Given the description of an element on the screen output the (x, y) to click on. 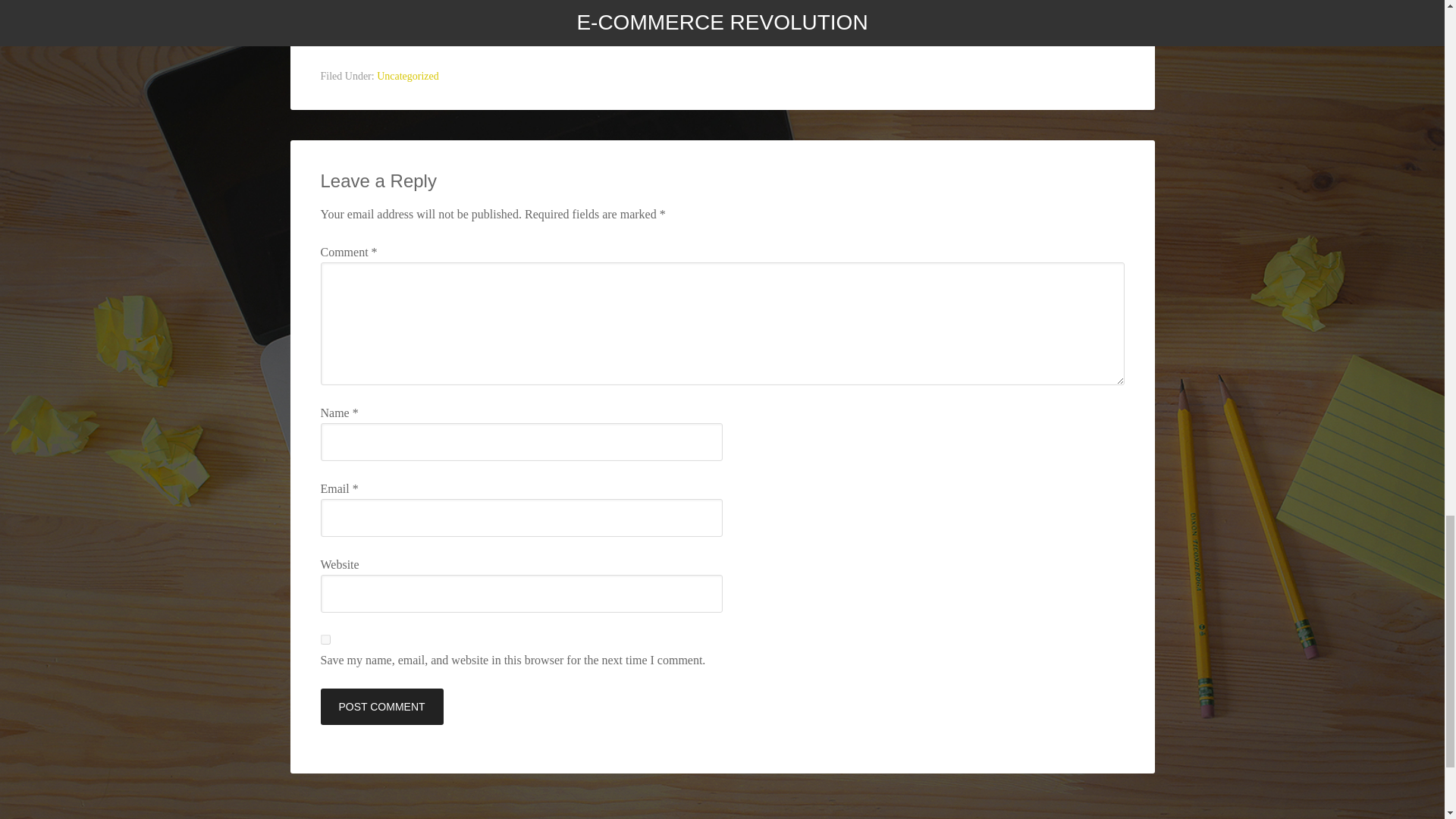
Post Comment (381, 706)
Uncategorized (408, 75)
yes (325, 639)
Post Comment (381, 706)
